Given the description of an element on the screen output the (x, y) to click on. 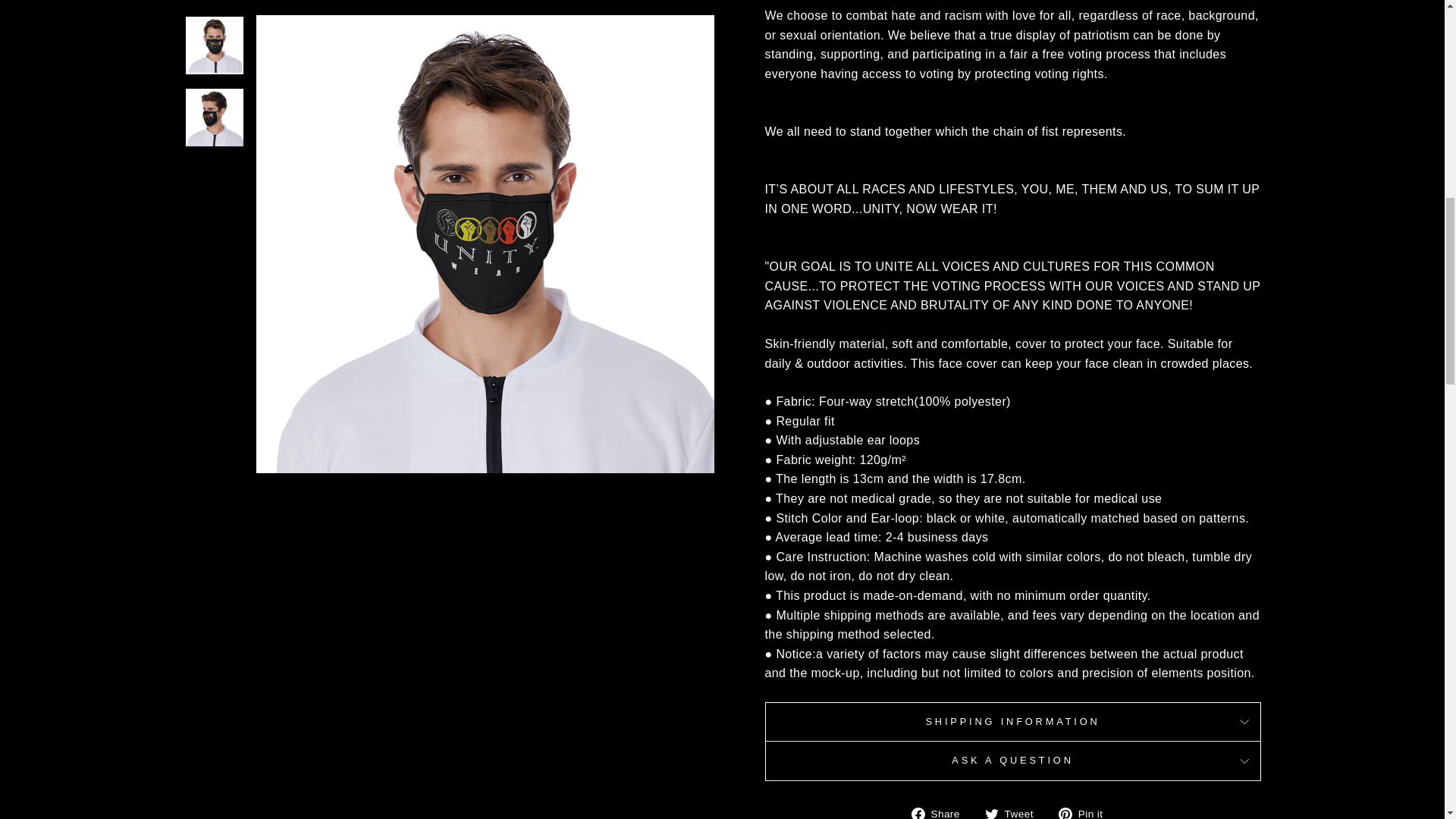
twitter (991, 813)
Tweet on Twitter (1015, 811)
Pin on Pinterest (1085, 811)
Share on Facebook (941, 811)
